Given the description of an element on the screen output the (x, y) to click on. 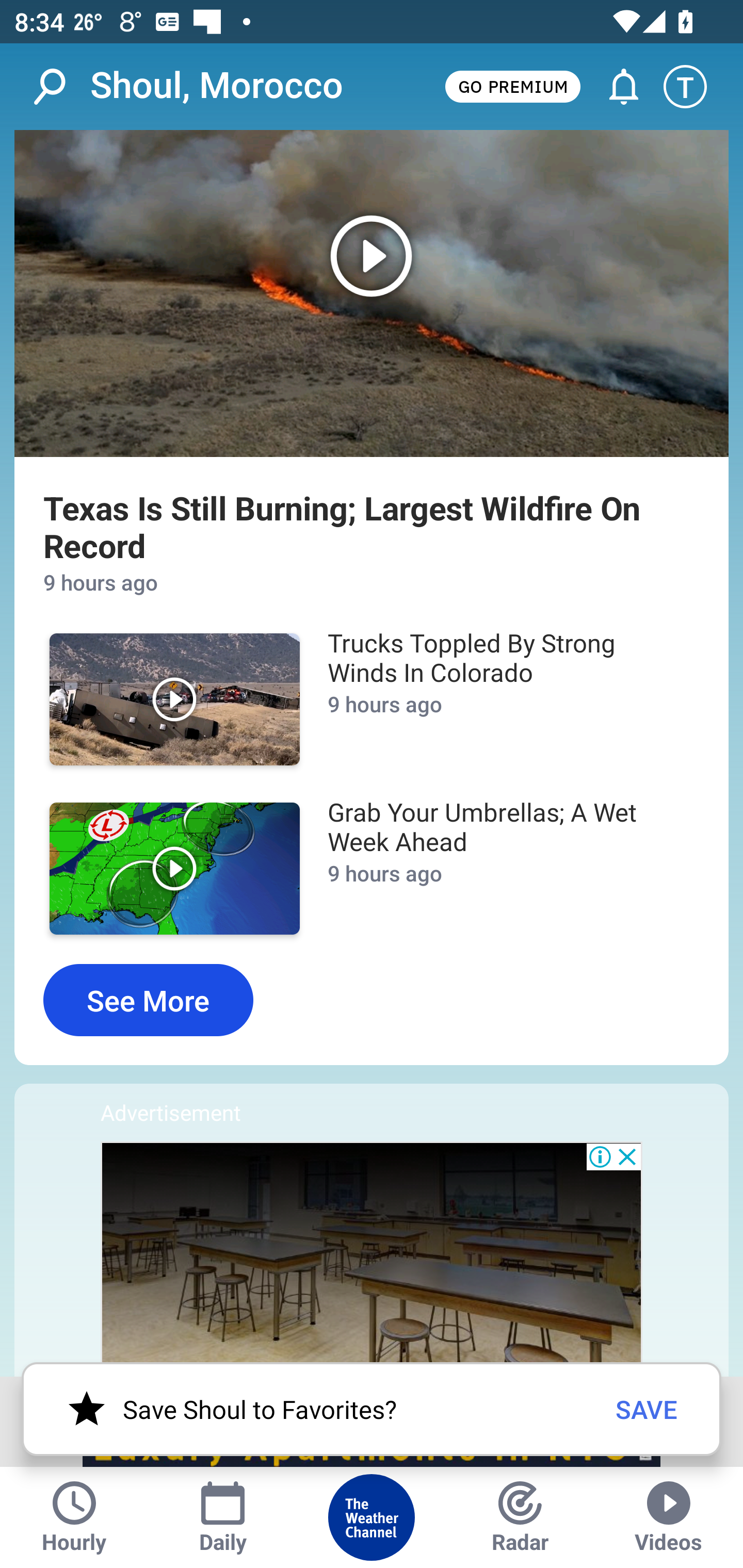
Search (59, 86)
Go to Alerts and Notifications (614, 86)
Setting icon T (694, 86)
Shoul, Morocco (216, 85)
GO PREMIUM (512, 85)
Play (371, 293)
Play (174, 699)
Grab Your Umbrellas; A Wet Week Ahead 9 hours ago (502, 868)
Play (174, 868)
See More (148, 1000)
epoxy-resin-countertops (371, 1258)
Save Shoul to Favorites? SAVE (371, 1409)
SAVE (646, 1408)
Hourly Tab Hourly (74, 1517)
Daily Tab Daily (222, 1517)
Radar Tab Radar (519, 1517)
Videos Tab Videos (668, 1517)
